Given the description of an element on the screen output the (x, y) to click on. 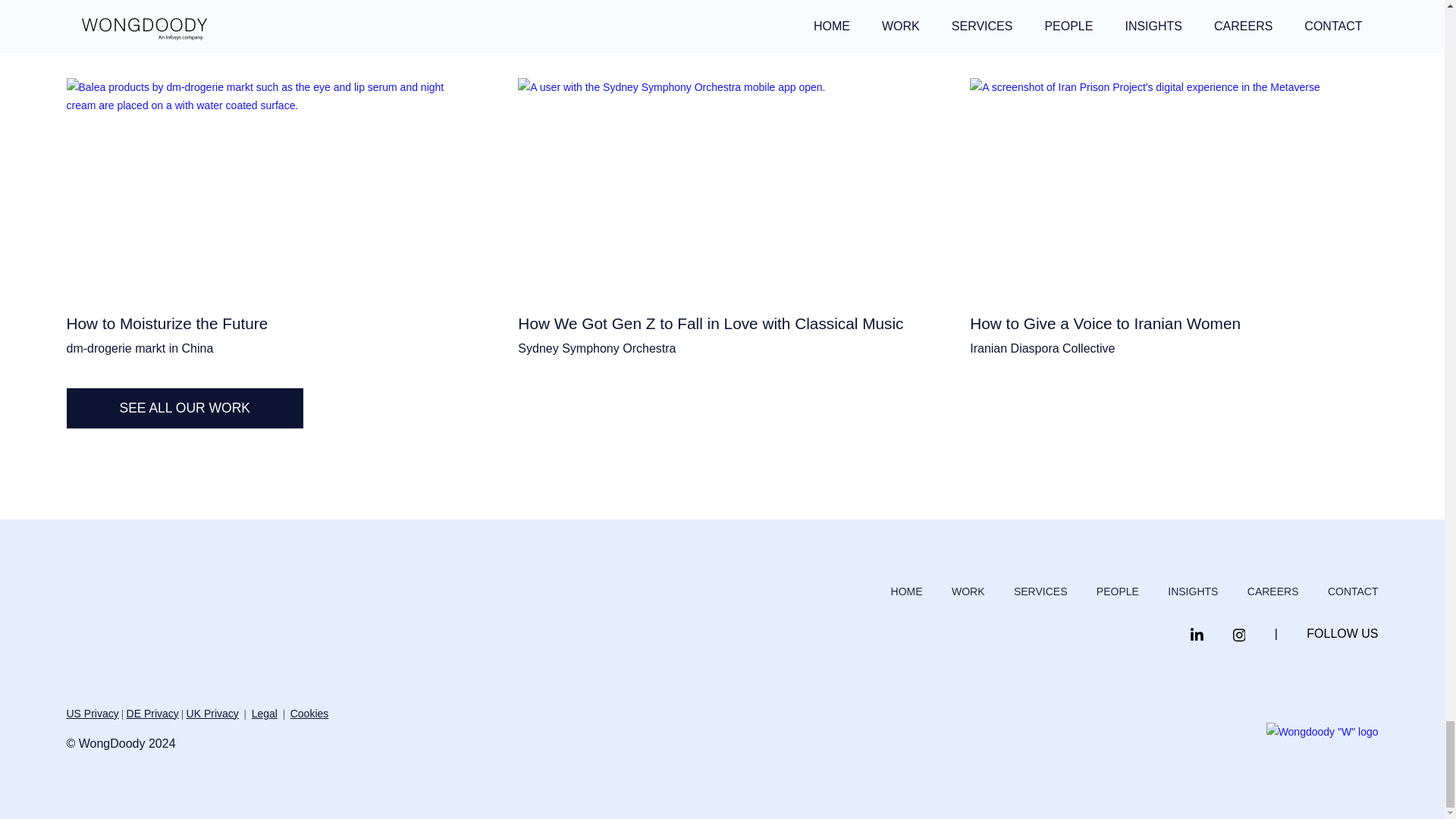
SERVICES (1040, 591)
PEOPLE (1117, 591)
UK Privacy (212, 713)
How to Give a Voice to Iranian Women (1173, 205)
HOME (907, 591)
Legal (264, 713)
CAREERS (1272, 591)
DE Privacy (152, 713)
Cookies (309, 713)
How We Got Gen Z to Fall in Love with Classical Music (722, 205)
